Given the description of an element on the screen output the (x, y) to click on. 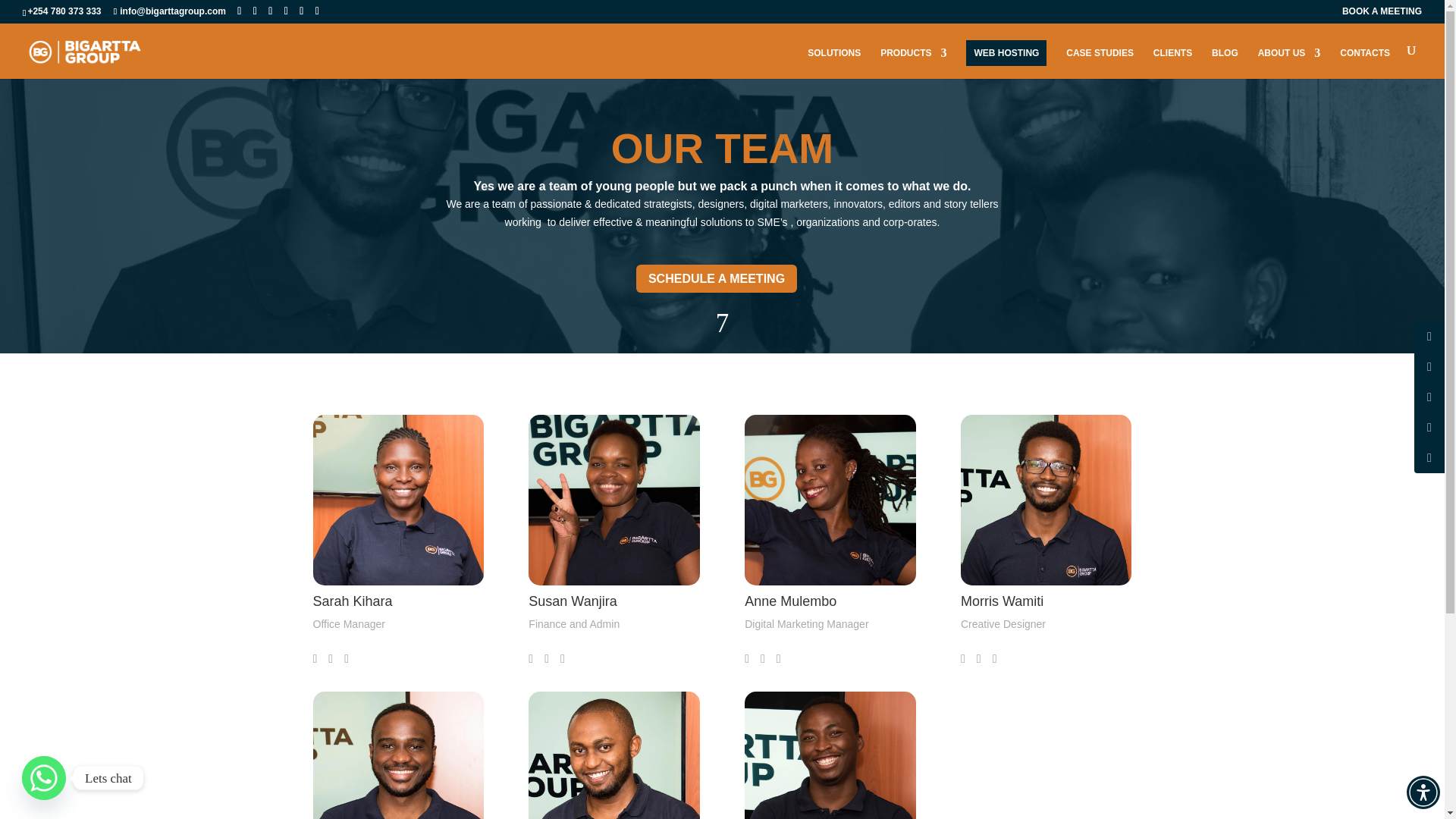
WEB HOSTING (1006, 53)
PRODUCTS (913, 62)
BOOK A MEETING (1382, 14)
Accessibility Menu (1422, 792)
SOLUTIONS (834, 62)
CASE STUDIES (1099, 62)
CLIENTS (1172, 62)
CONTACTS (1364, 62)
ABOUT US (1288, 62)
